Given the description of an element on the screen output the (x, y) to click on. 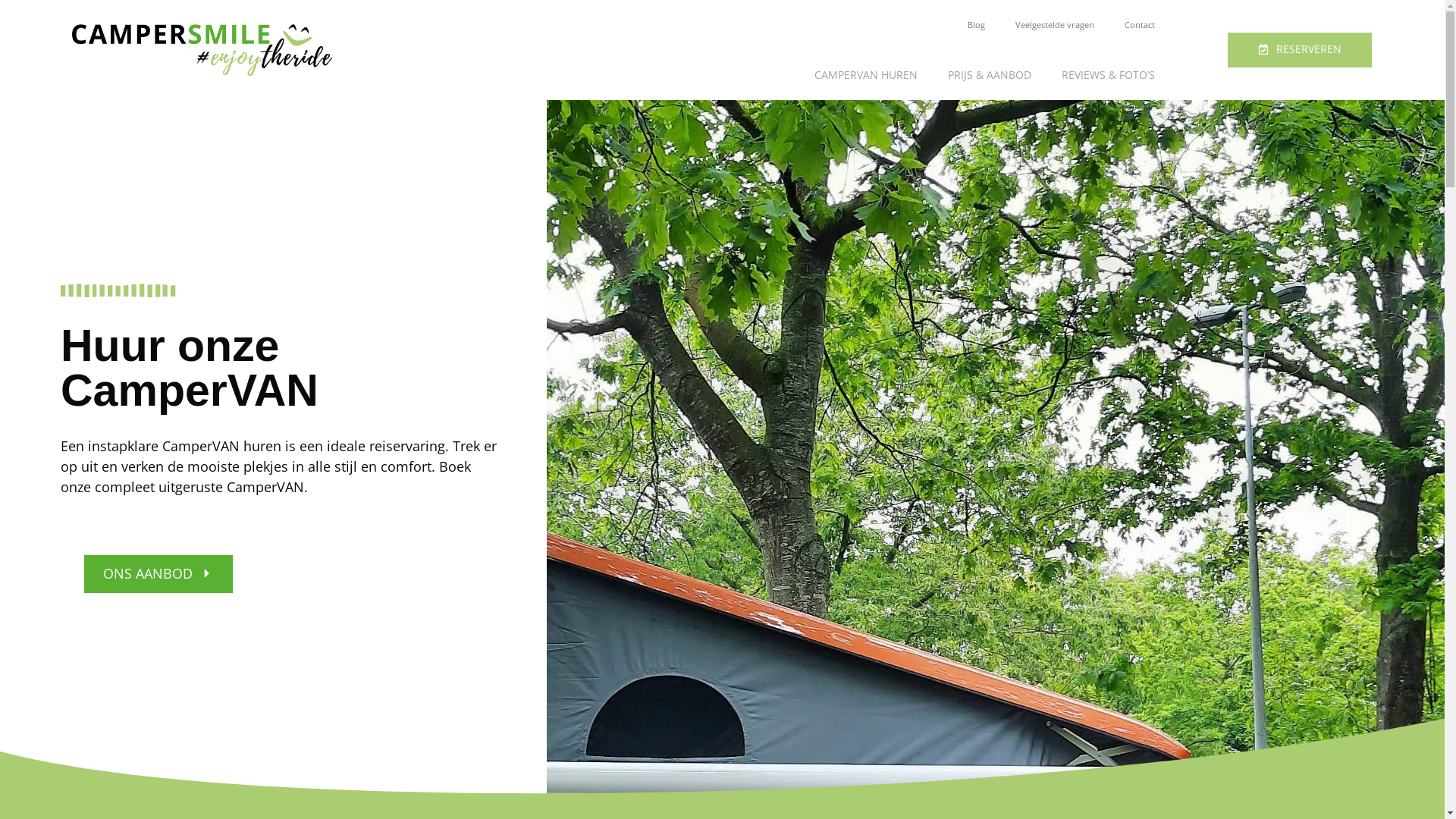
Contact Element type: text (1139, 24)
RESERVEREN Element type: text (1299, 49)
ONS AANBOD Element type: text (158, 574)
Veelgestelde vragen Element type: text (1054, 24)
CAMPERVAN HUREN Element type: text (865, 74)
Blog Element type: text (976, 24)
logo_CAMPERSMILE_ENJOYTHERIDE_RGB - CamperSMILE Element type: hover (202, 49)
PRIJS & AANBOD Element type: text (989, 74)
